Given the description of an element on the screen output the (x, y) to click on. 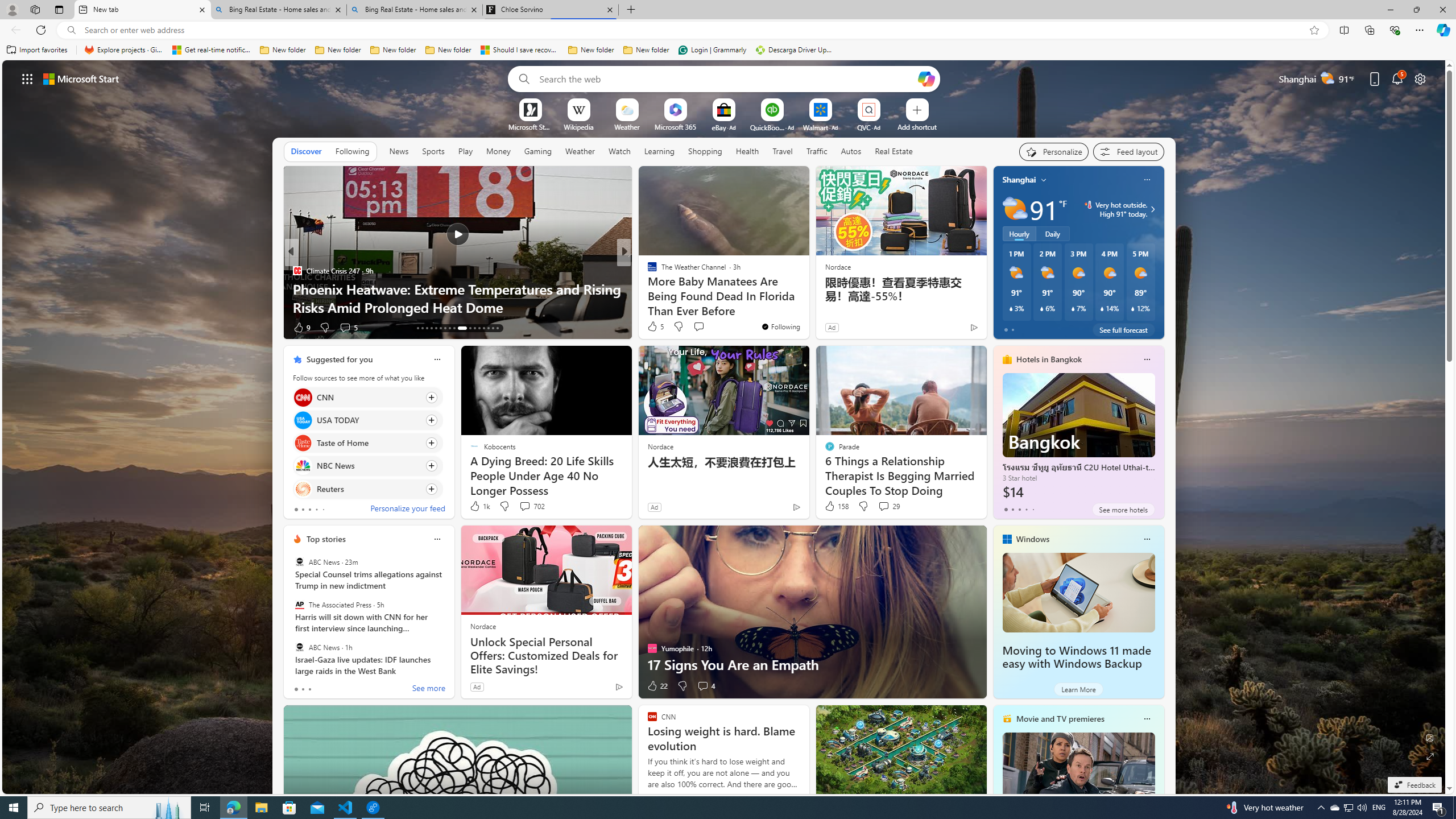
Windows (1032, 538)
Personalize your feed" (1054, 151)
Enter your search term (726, 78)
1k Like (478, 505)
View comments 702 Comment (530, 505)
AutomationID: tab-42 (497, 328)
View comments 4 Comment (703, 685)
Hotels in Bangkok (1048, 359)
Click to follow source USA TODAY (367, 419)
